Given the description of an element on the screen output the (x, y) to click on. 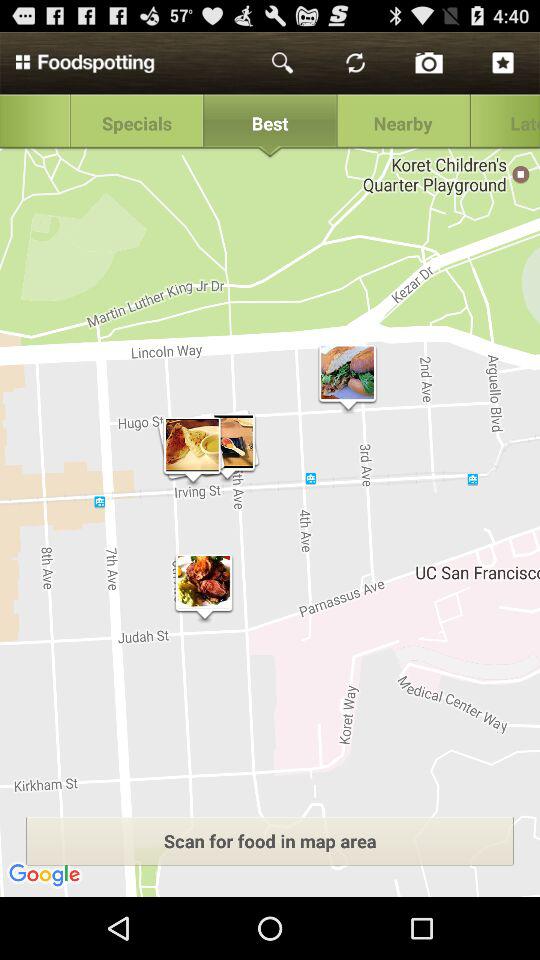
jump to scan for food item (269, 840)
